Given the description of an element on the screen output the (x, y) to click on. 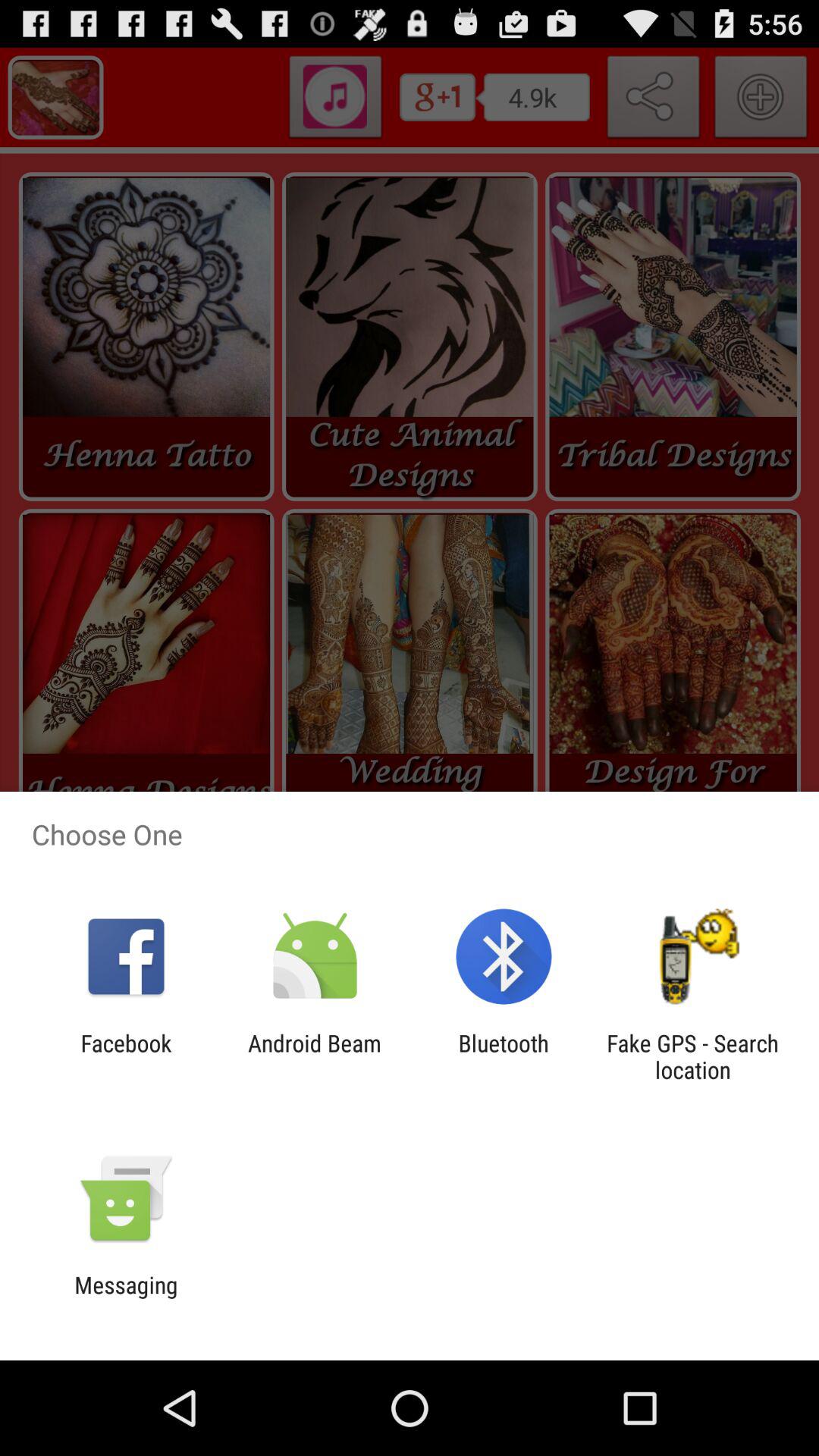
scroll to the facebook (125, 1056)
